Given the description of an element on the screen output the (x, y) to click on. 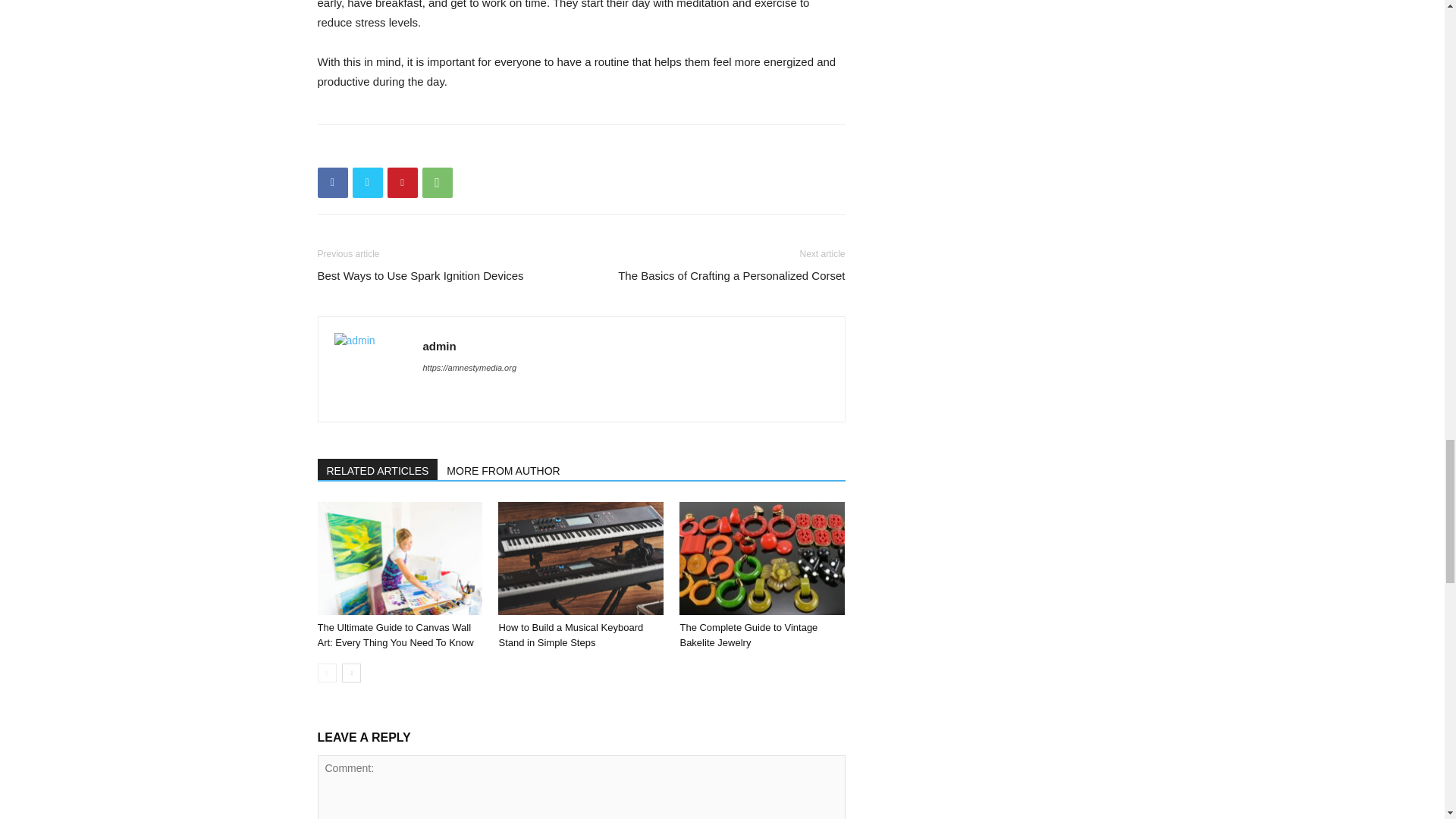
bottomFacebookLike (430, 148)
Twitter (366, 182)
Pinterest (401, 182)
Facebook (332, 182)
